Given the description of an element on the screen output the (x, y) to click on. 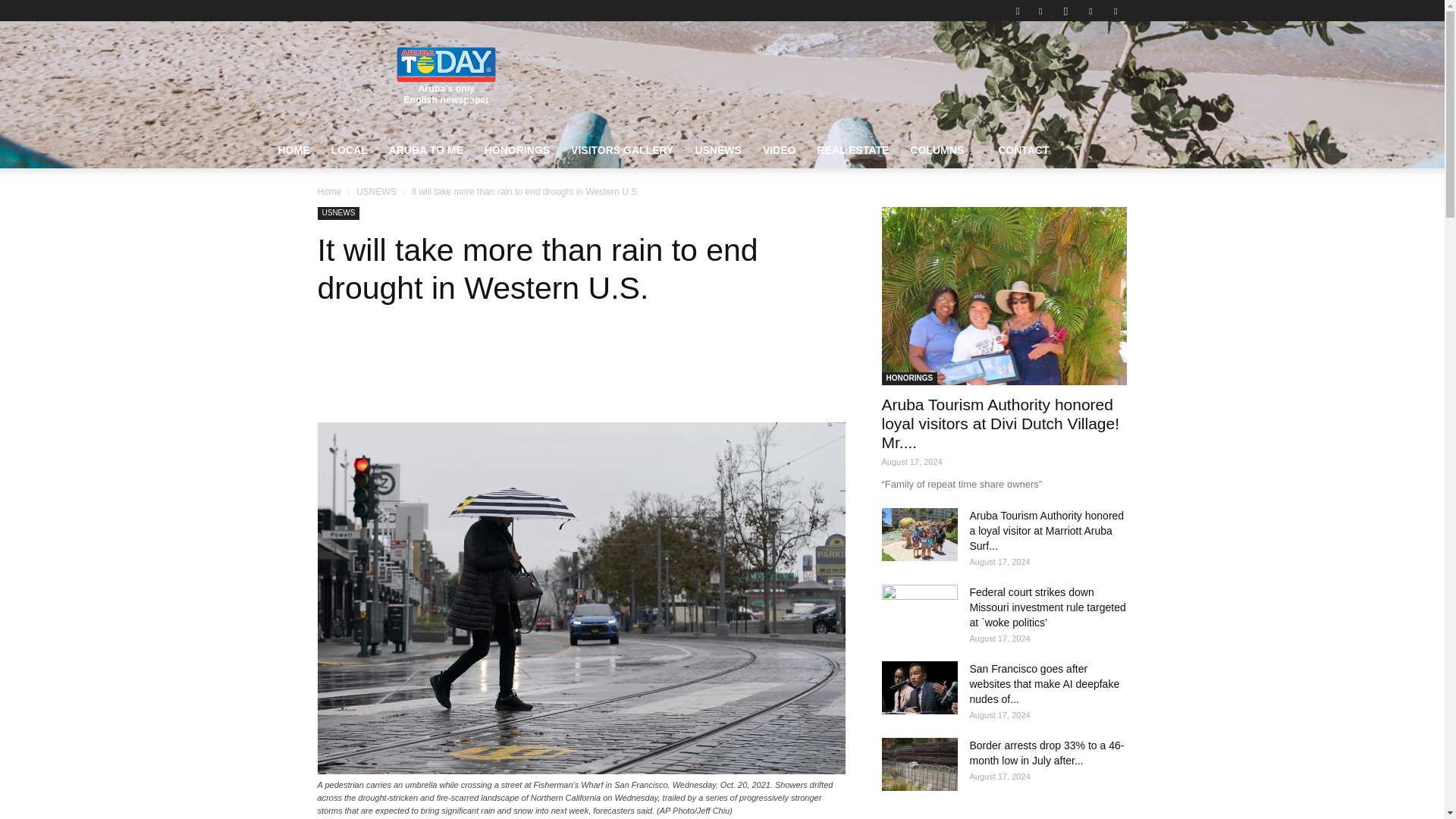
ARUBA TO ME (426, 149)
VISITORS GALLERY (622, 149)
LOCAL (348, 149)
HONORINGS (517, 149)
View all posts in USNEWS (376, 191)
Youtube (1114, 10)
Instagram (1065, 10)
USNEWS (717, 149)
Mail (1090, 10)
